Given the description of an element on the screen output the (x, y) to click on. 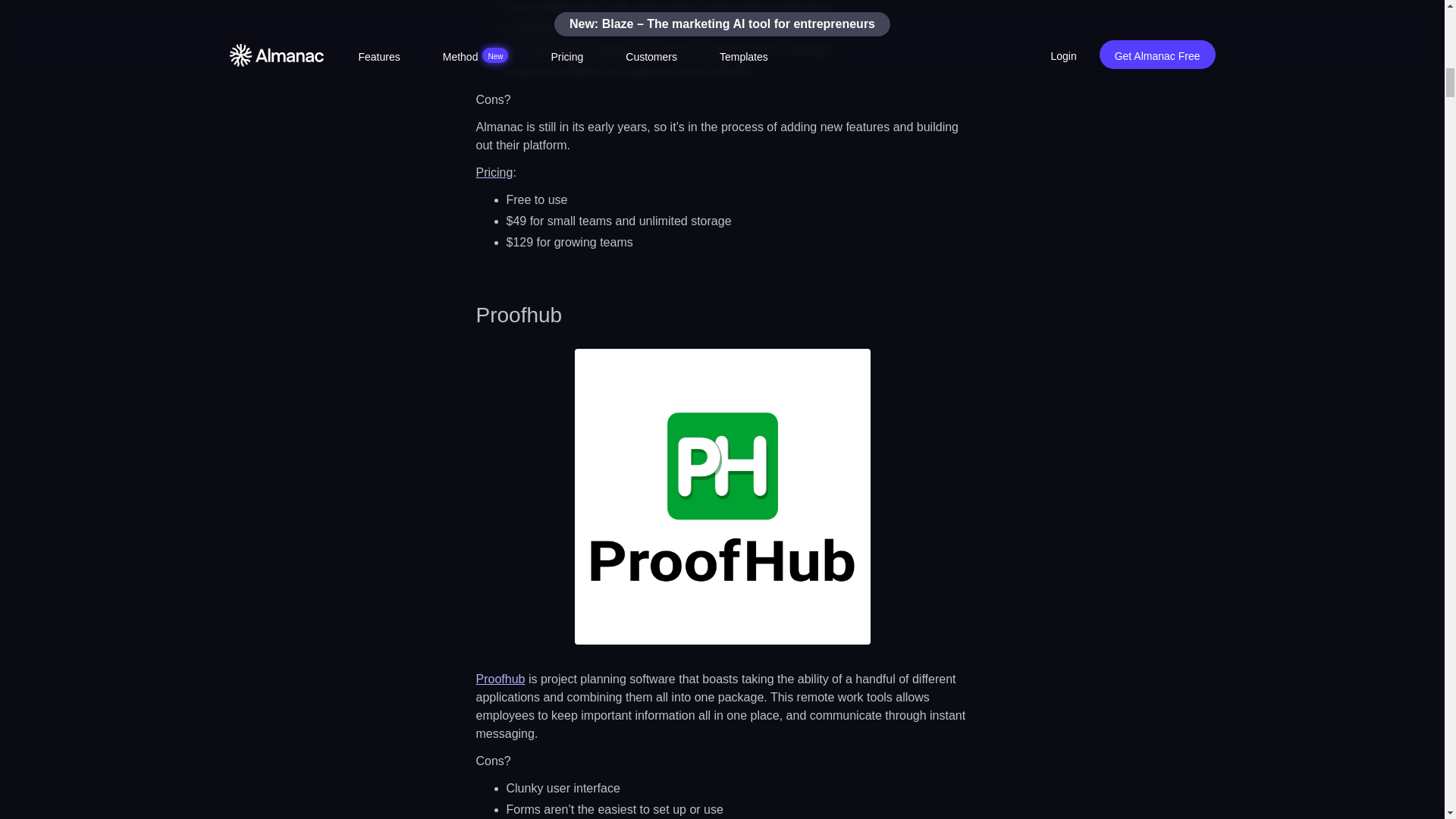
Proofhub (500, 678)
Pricing (494, 172)
